Given the description of an element on the screen output the (x, y) to click on. 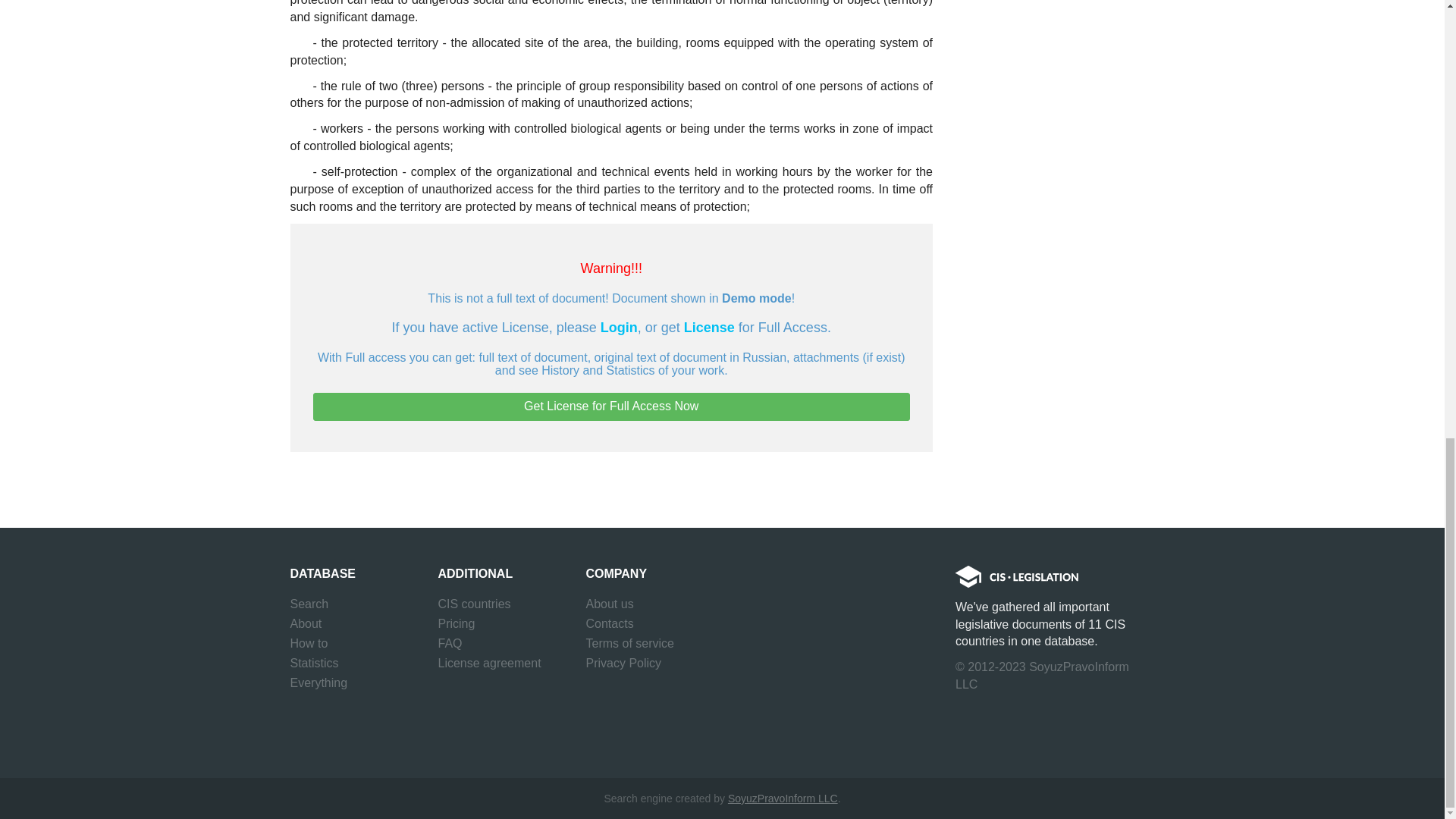
Terms of service (628, 643)
Everything (318, 682)
Contacts (609, 623)
Search (309, 604)
Login (618, 327)
Statistics (313, 663)
Get License for Full Access Now (611, 406)
FAQ (450, 643)
How to (308, 643)
License (709, 327)
Pricing (457, 623)
About us (609, 604)
About (305, 623)
License agreement (489, 663)
CIS countries (474, 604)
